Given the description of an element on the screen output the (x, y) to click on. 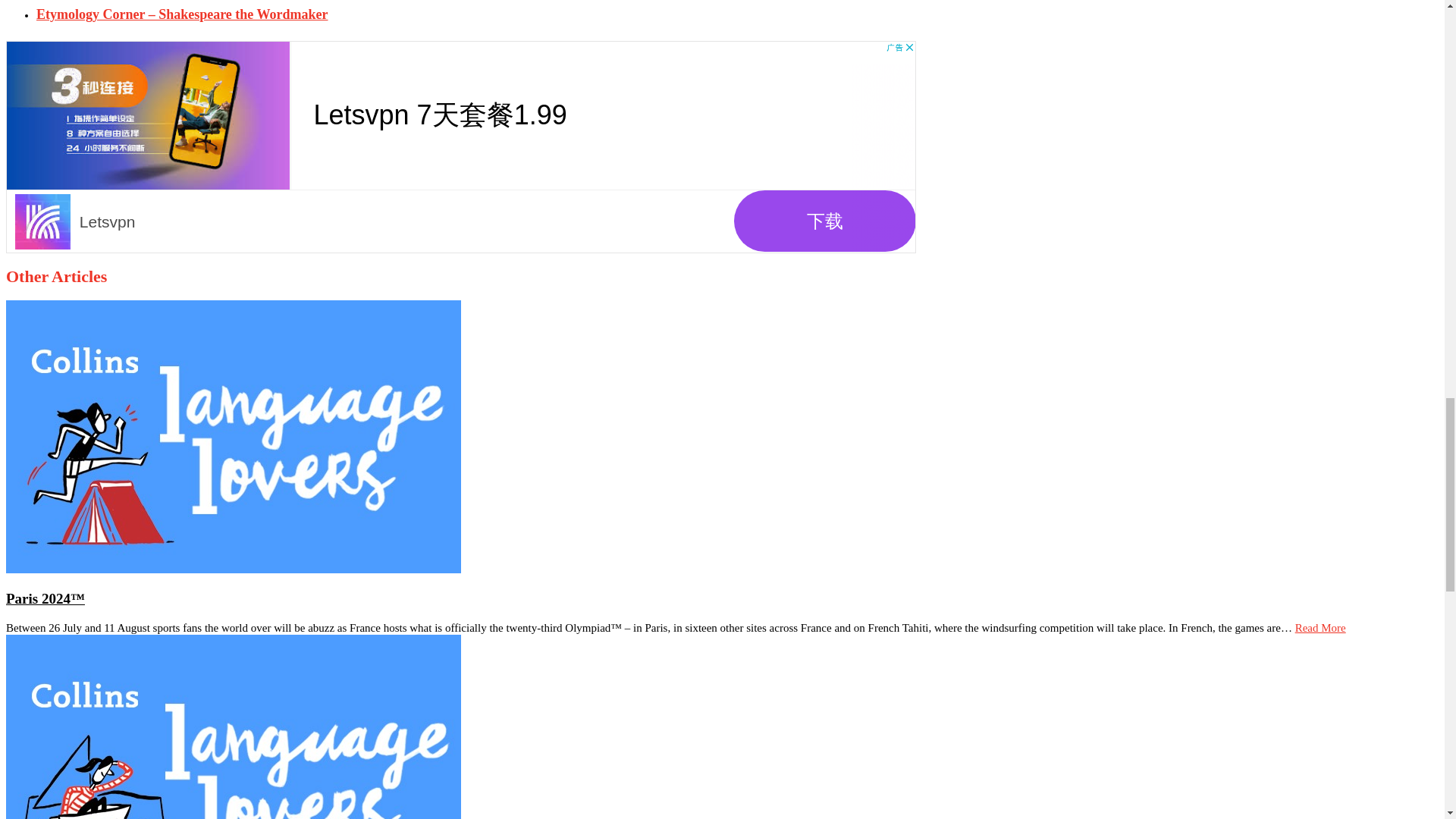
Read More (1320, 627)
